Given the description of an element on the screen output the (x, y) to click on. 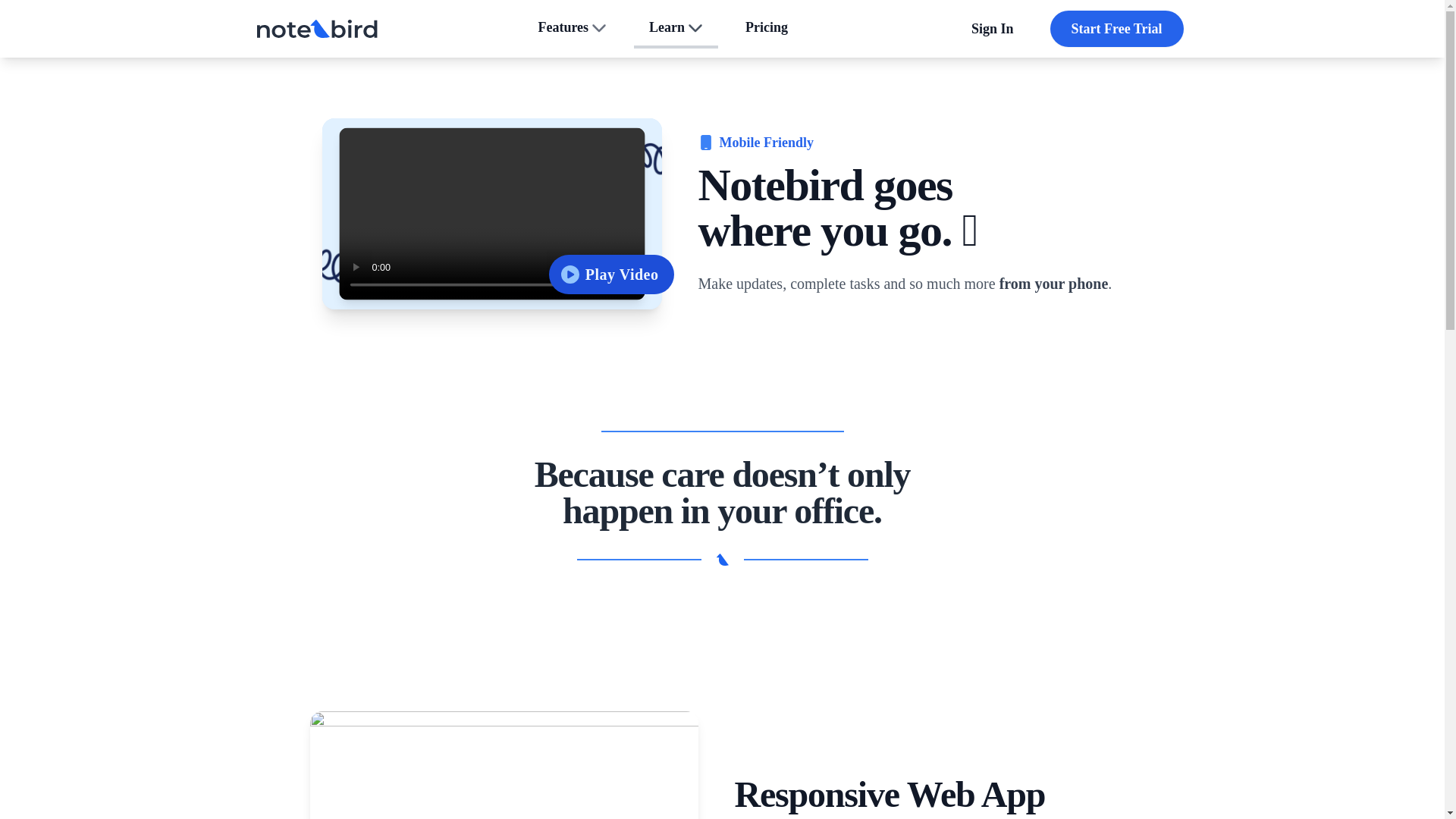
Learn (675, 28)
Start Free Trial (1116, 28)
Pricing (766, 28)
Notebird (316, 28)
Features (571, 28)
Sign In (491, 213)
